Given the description of an element on the screen output the (x, y) to click on. 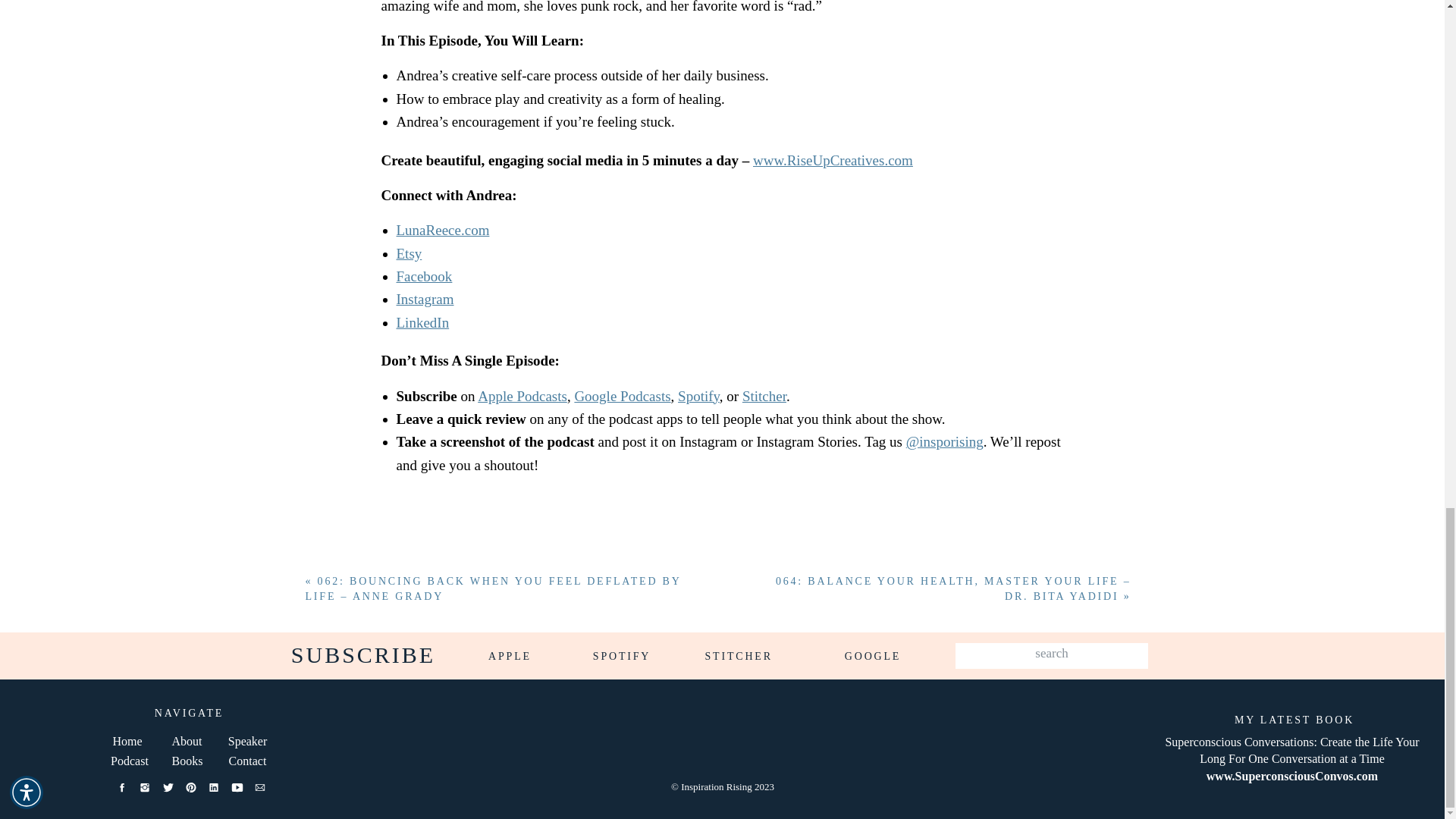
Stitcher (764, 396)
Google Podcasts (621, 396)
GOOGLE (871, 659)
LunaReece.com (442, 229)
Facebook (423, 276)
www.RiseUpCreatives.com (832, 160)
LinkedIn (422, 322)
STITCHER (737, 659)
Instagram (424, 299)
Apple Podcasts (522, 396)
